Given the description of an element on the screen output the (x, y) to click on. 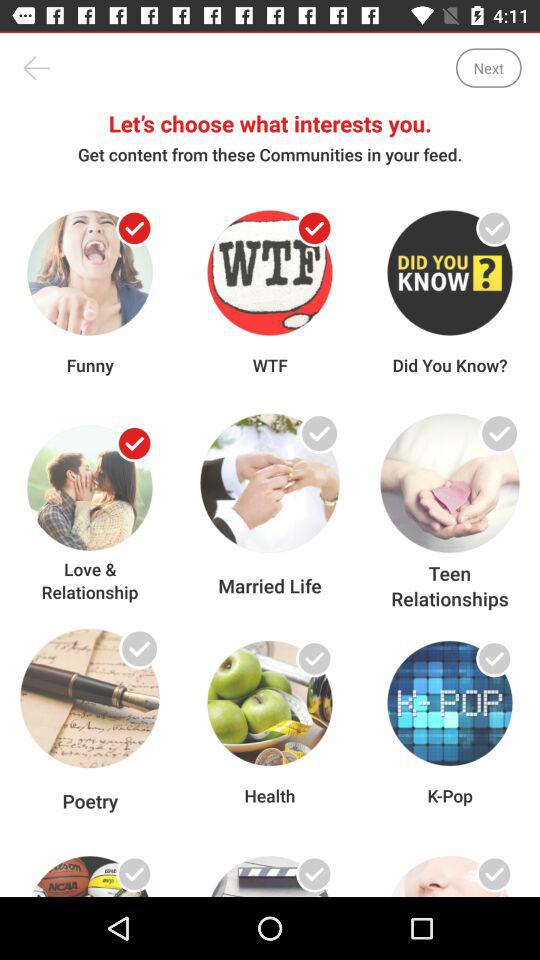
select the topic (314, 873)
